Given the description of an element on the screen output the (x, y) to click on. 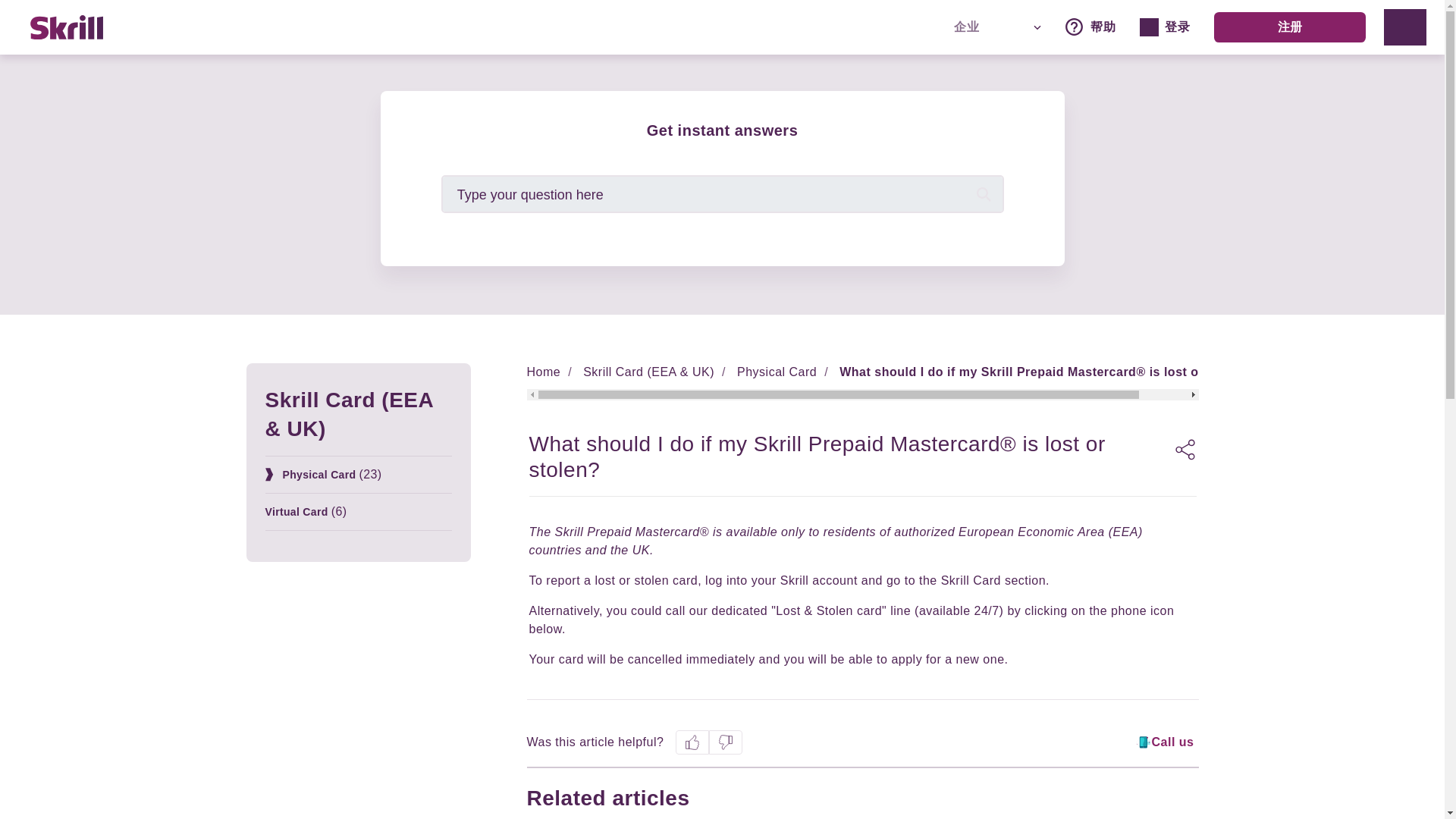
on (1405, 27)
Main (1159, 27)
on (1021, 27)
